Given the description of an element on the screen output the (x, y) to click on. 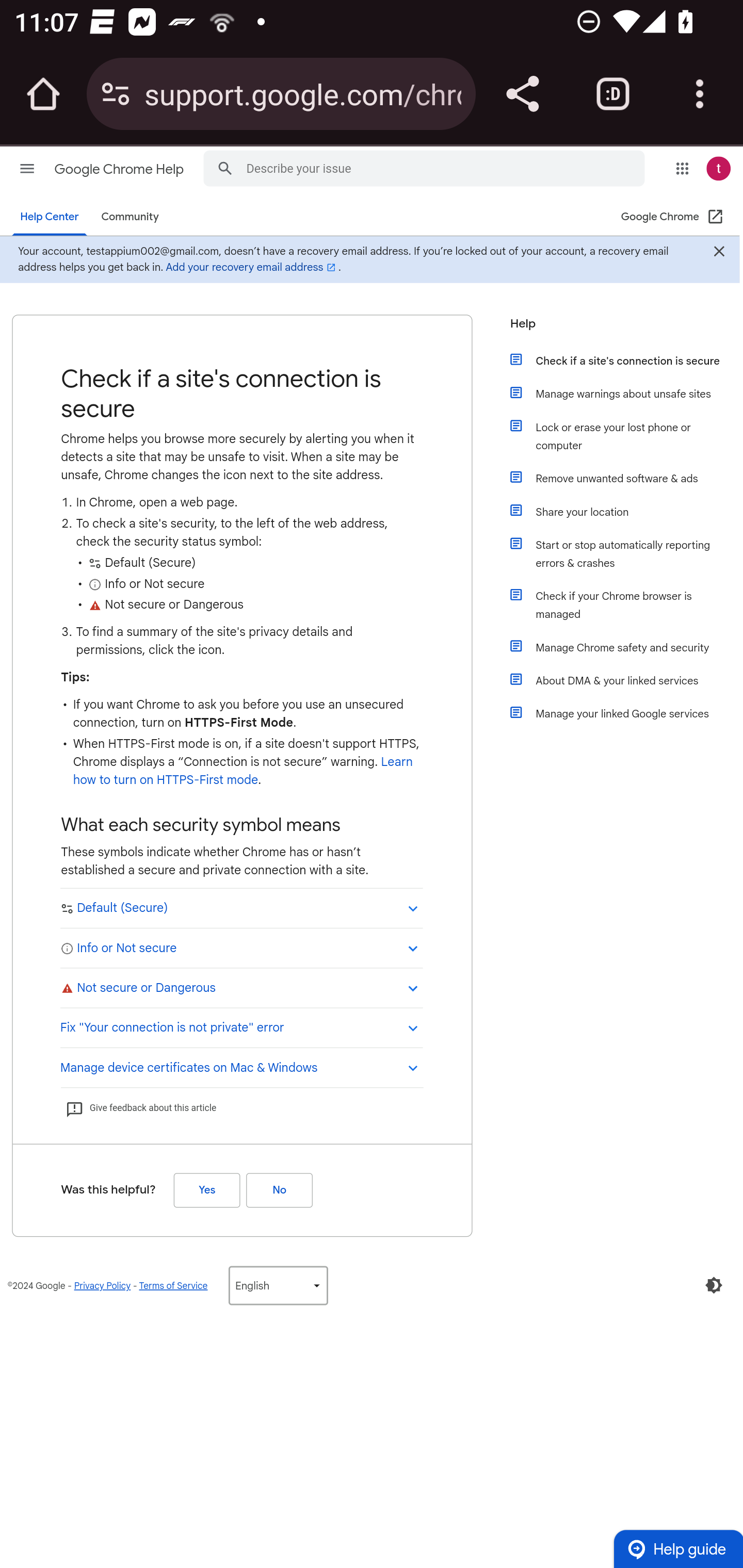
Open the home page (43, 93)
Connection is secure (115, 93)
Share (522, 93)
Switch or close tabs (612, 93)
Customize and control Google Chrome (699, 93)
Main menu (27, 168)
Google Chrome Help (118, 169)
Search Help Center (220, 167)
Google apps (681, 168)
Help Center (47, 217)
Community (125, 217)
Google Chrome (Open in a new window) Google Chrome (675, 217)
Close (718, 252)
Add your recovery email address (205, 267)
Help Help Help (618, 328)
Check if a site's connection is secure (626, 360)
Manage warnings about unsafe sites (626, 393)
Lock or erase your lost phone or computer (626, 436)
Remove unwanted software & ads (626, 477)
Share your location (626, 511)
Check if your Chrome browser is managed (626, 604)
Manage Chrome safety and security (626, 647)
About DMA & your linked services (626, 680)
Manage your linked Google services (626, 713)
Learn how to turn on HTTPS-First mode (237, 770)
Default (Secure) Default (Secure) (240, 907)
View site information Info or Not secure (240, 946)
Dangerous Not secure or Dangerous (240, 987)
Fix "Your connection is not private" error (240, 1026)
Manage device certificates on Mac & Windows (240, 1065)
Give feedback about this article (140, 1107)
Yes (Was this helpful?) (204, 1189)
No (Was this helpful?) (276, 1189)
Language (English‎) (272, 1284)
Enable Dark Mode (713, 1284)
Privacy Policy (100, 1285)
Terms of Service (168, 1285)
